Given the description of an element on the screen output the (x, y) to click on. 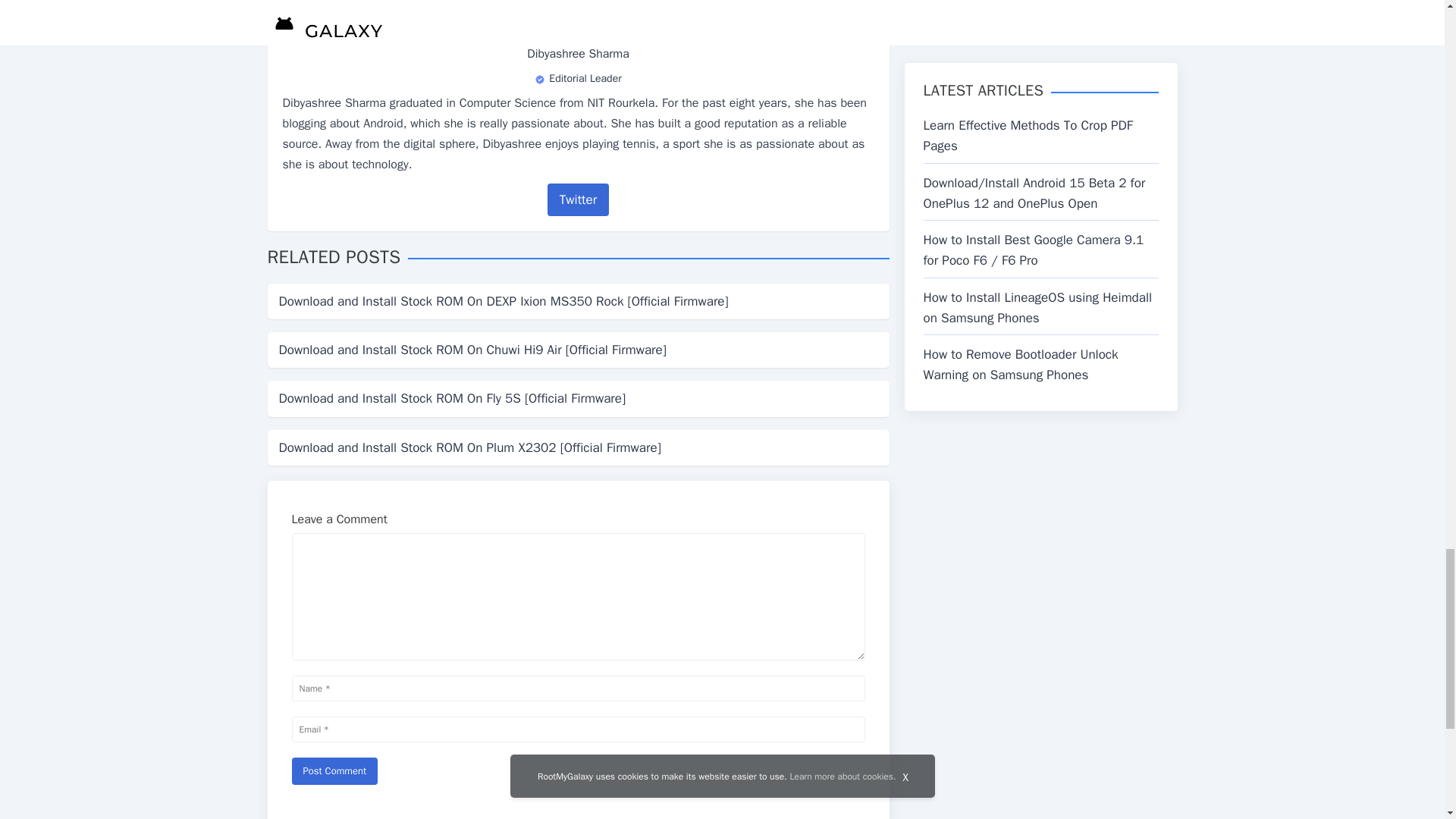
Post Comment (334, 770)
